Given the description of an element on the screen output the (x, y) to click on. 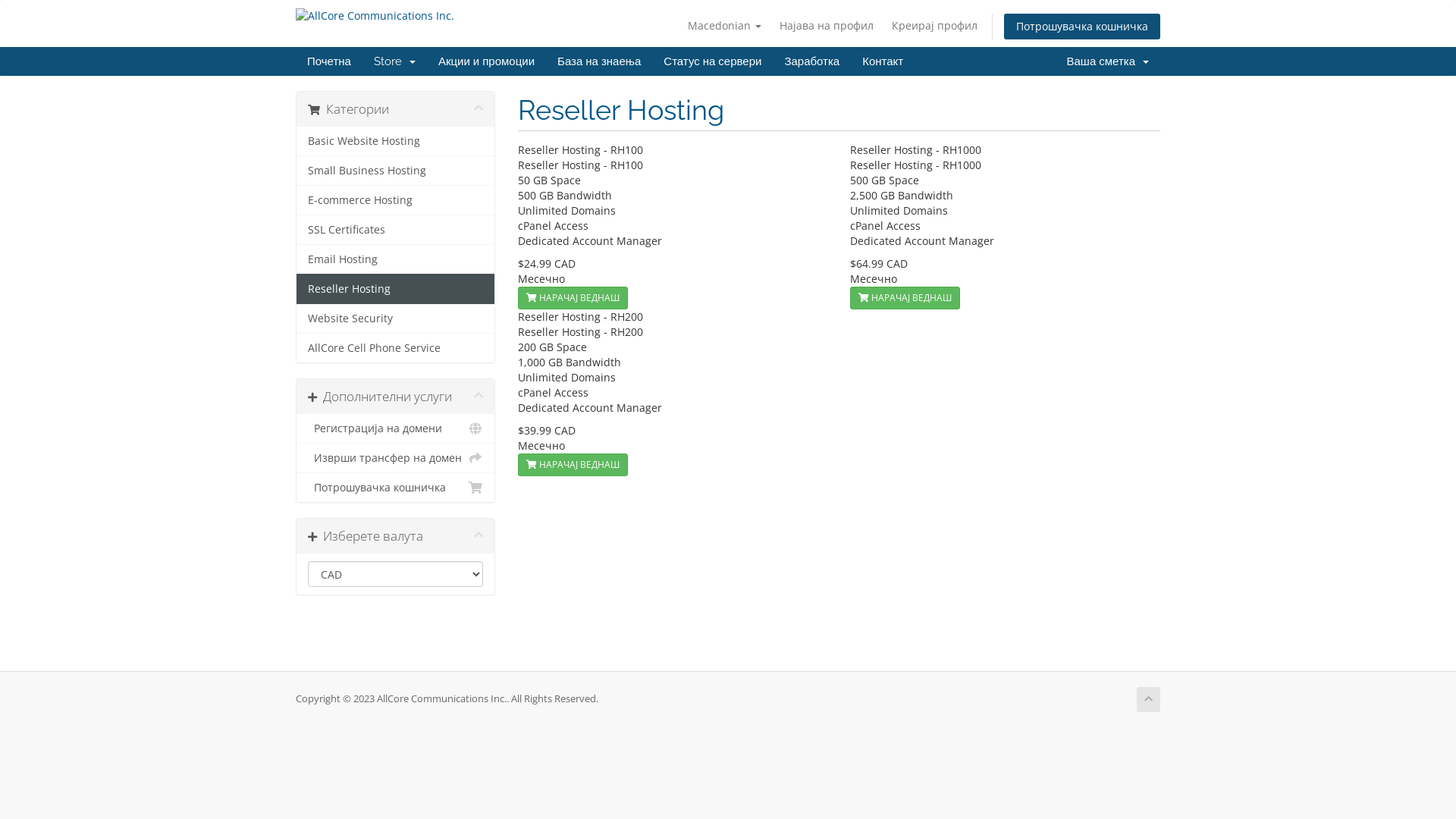
Website Security Element type: text (395, 318)
E-commerce Hosting Element type: text (395, 200)
SSL Certificates Element type: text (395, 229)
Basic Website Hosting Element type: text (395, 141)
Reseller Hosting Element type: text (395, 288)
AllCore Cell Phone Service Element type: text (395, 347)
Store   Element type: text (394, 61)
Email Hosting Element type: text (395, 259)
Macedonian Element type: text (724, 25)
Small Business Hosting Element type: text (395, 170)
